Given the description of an element on the screen output the (x, y) to click on. 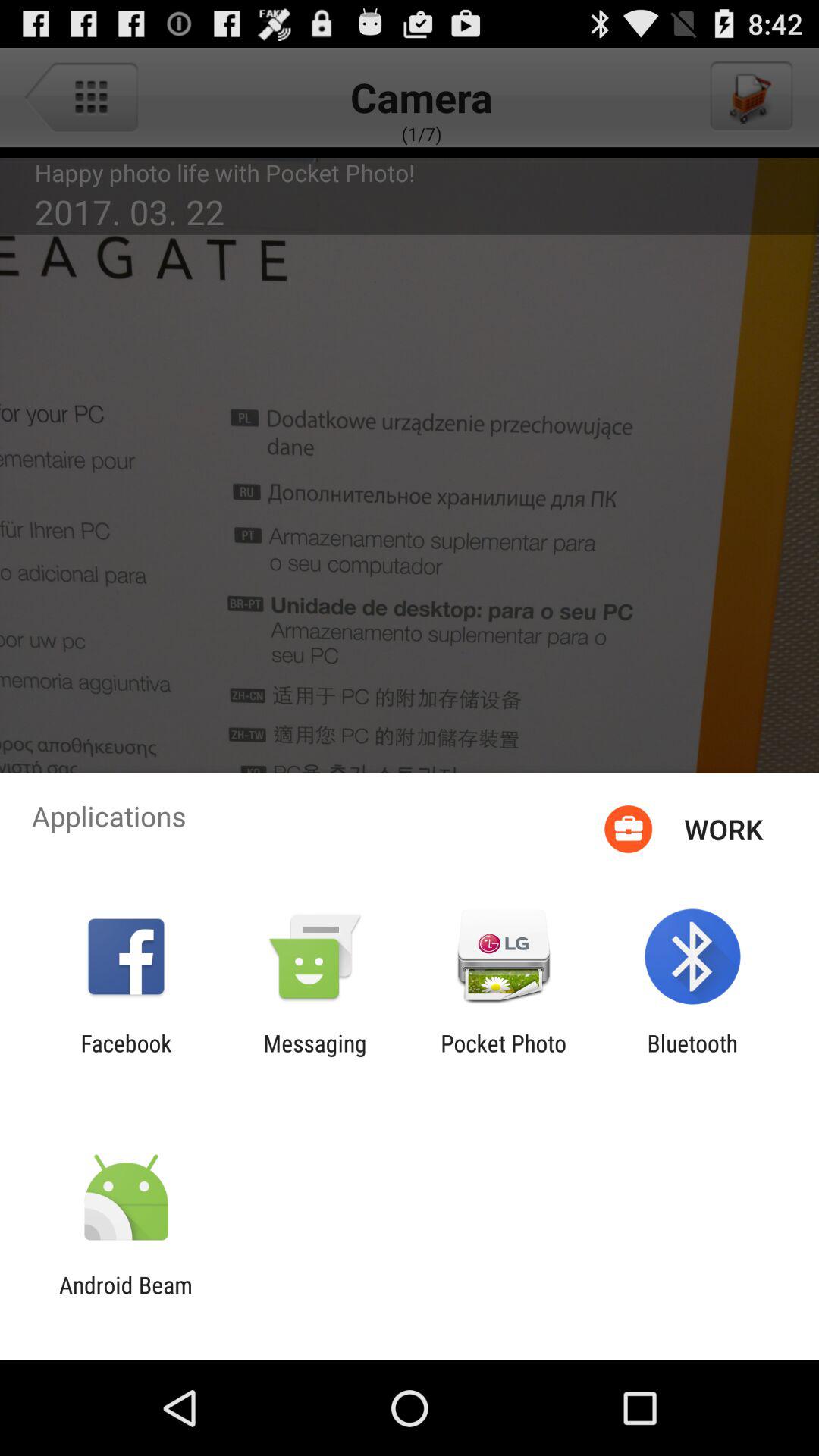
click the item next to messaging icon (125, 1056)
